Given the description of an element on the screen output the (x, y) to click on. 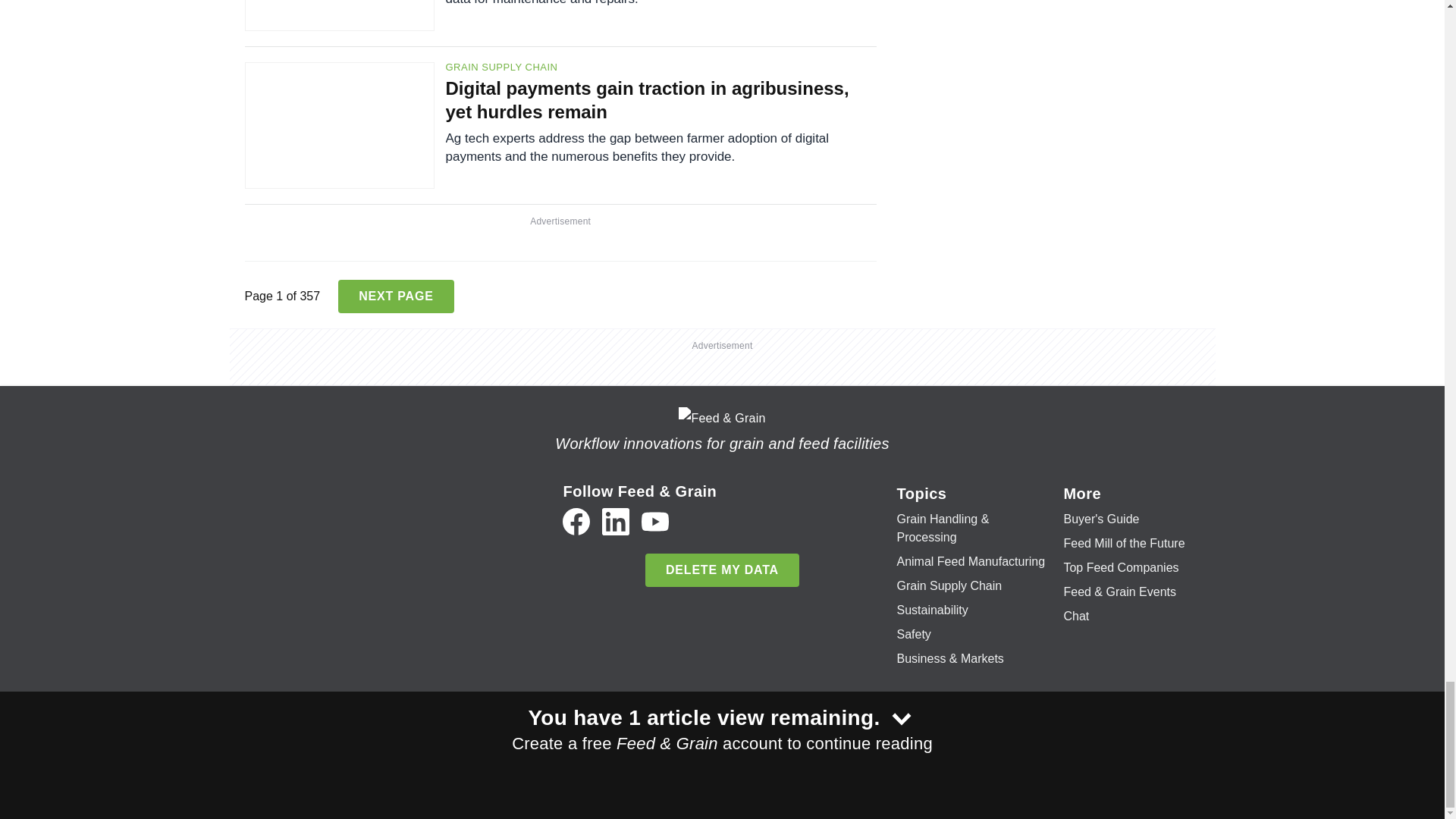
YouTube icon (655, 521)
LinkedIn icon (615, 521)
Facebook icon (575, 521)
